Given the description of an element on the screen output the (x, y) to click on. 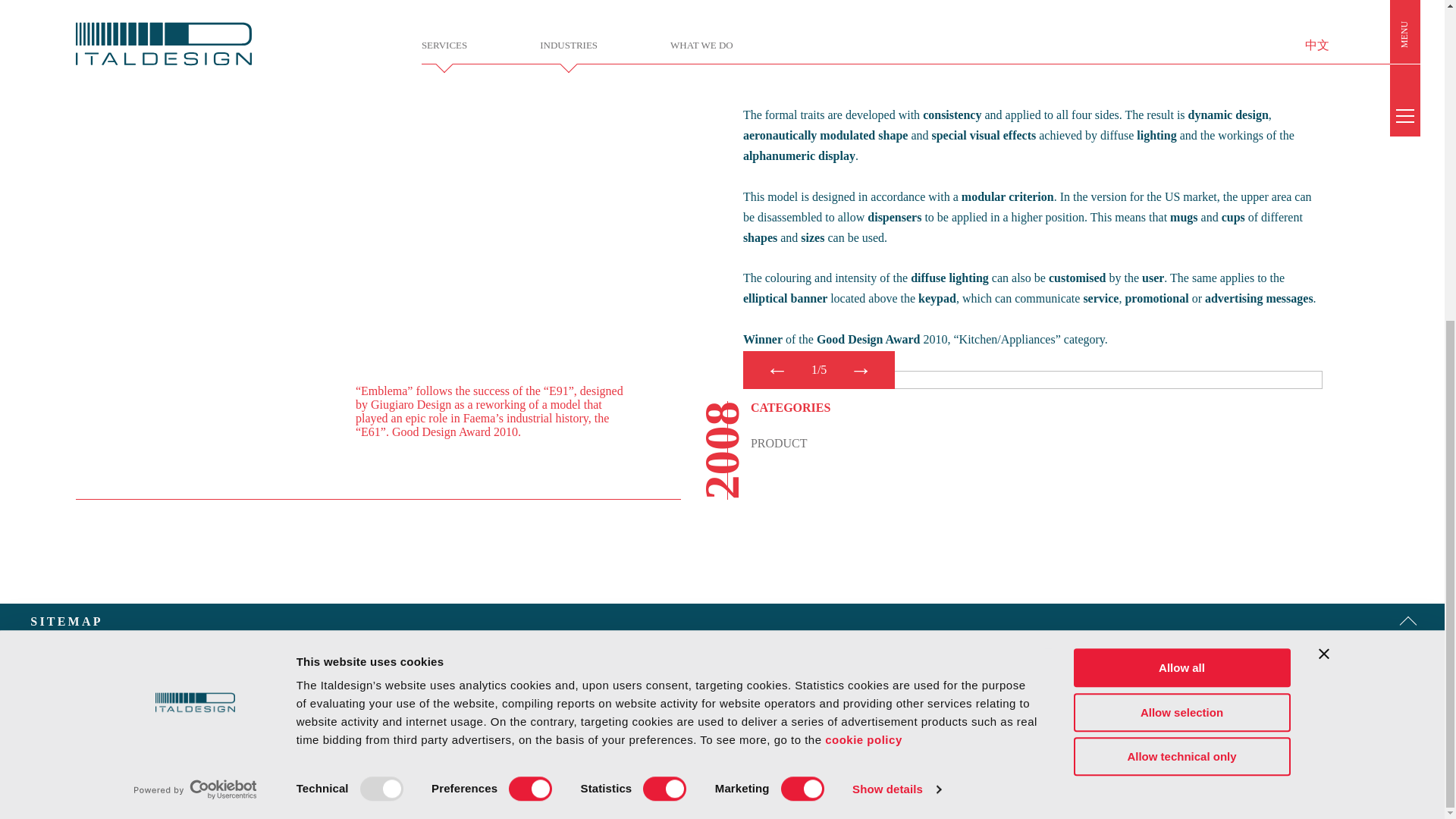
Show details (895, 269)
cookie policy (863, 219)
